Given the description of an element on the screen output the (x, y) to click on. 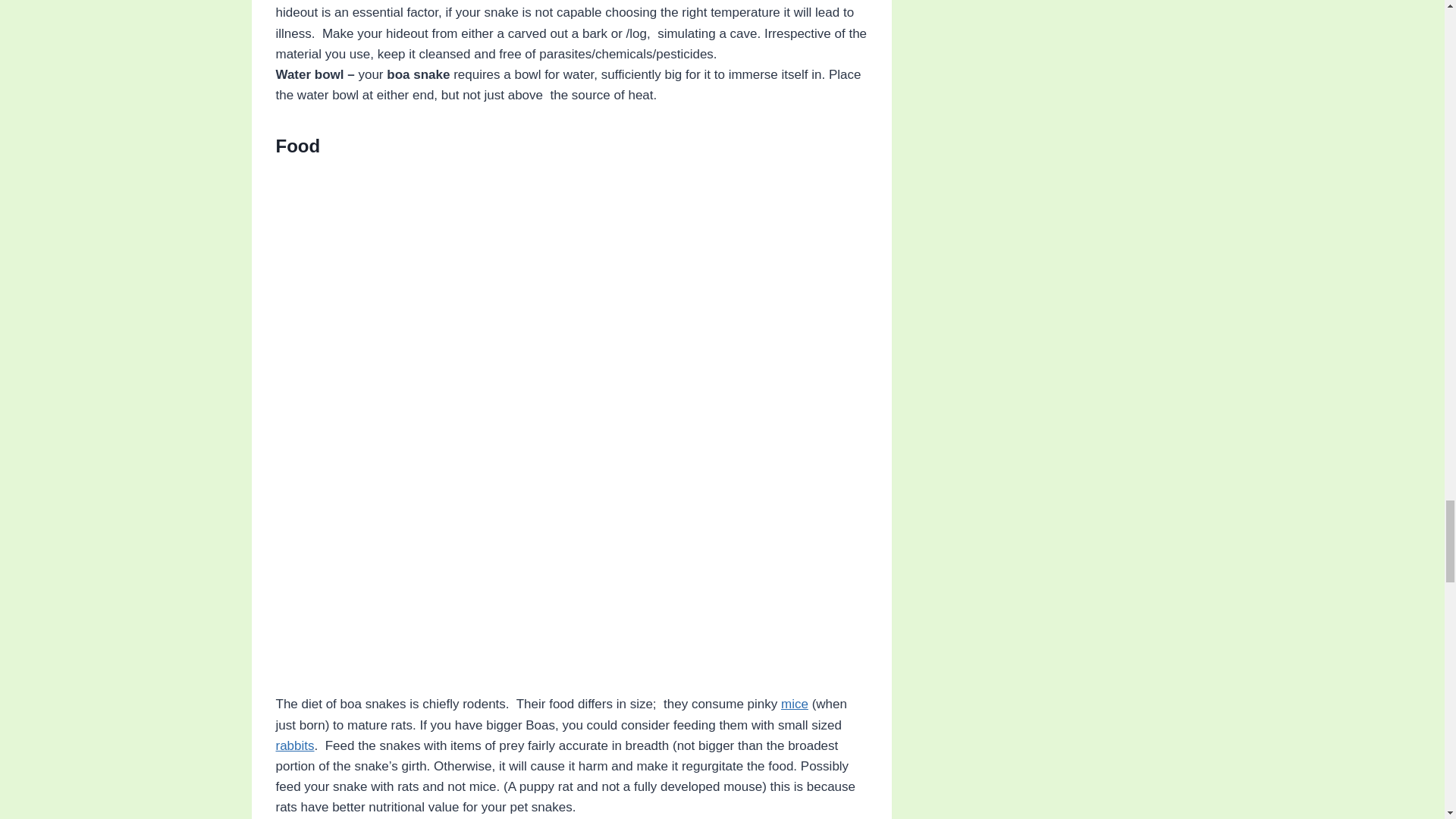
mice (794, 703)
rabbits (295, 745)
